Given the description of an element on the screen output the (x, y) to click on. 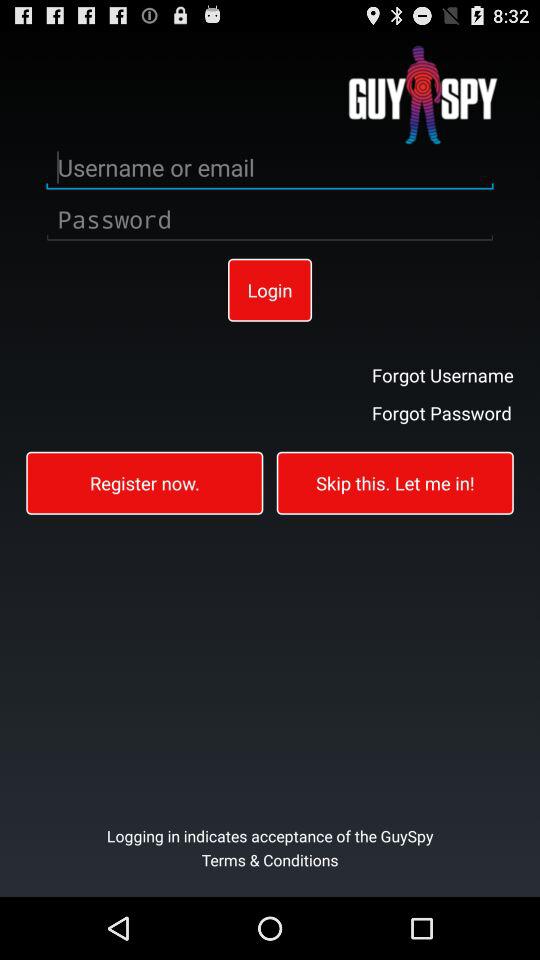
flip to the skip this let item (394, 482)
